Given the description of an element on the screen output the (x, y) to click on. 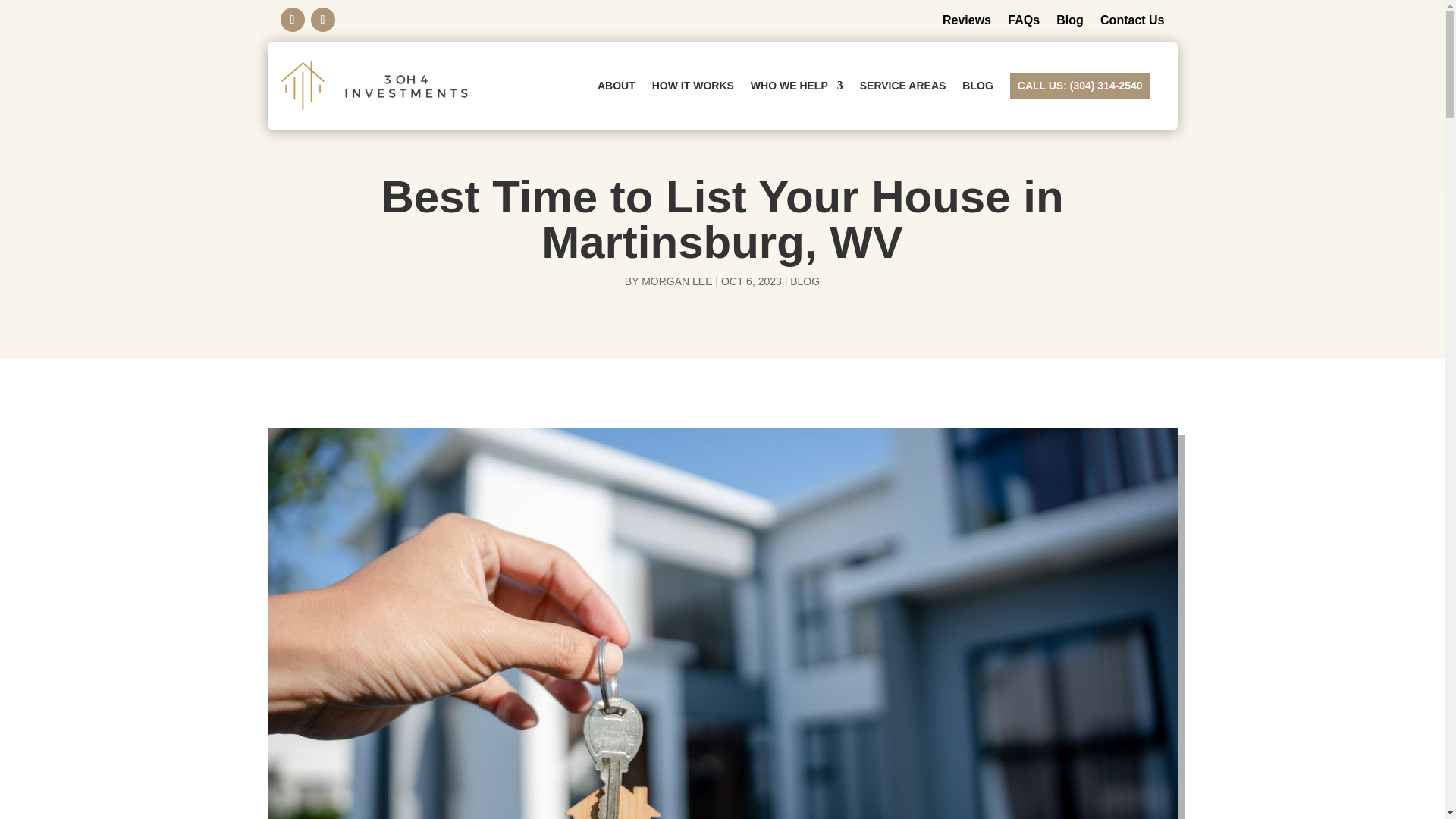
SERVICE AREAS (903, 85)
Follow on Instagram (322, 19)
MORGAN LEE (676, 281)
Reviews (966, 19)
BLOG (804, 281)
Posts by Morgan Lee (676, 281)
Blog (1070, 19)
Contact Us (1131, 19)
HOW IT WORKS (692, 85)
Follow on Facebook (292, 19)
FAQs (1023, 19)
WHO WE HELP (797, 85)
